Given the description of an element on the screen output the (x, y) to click on. 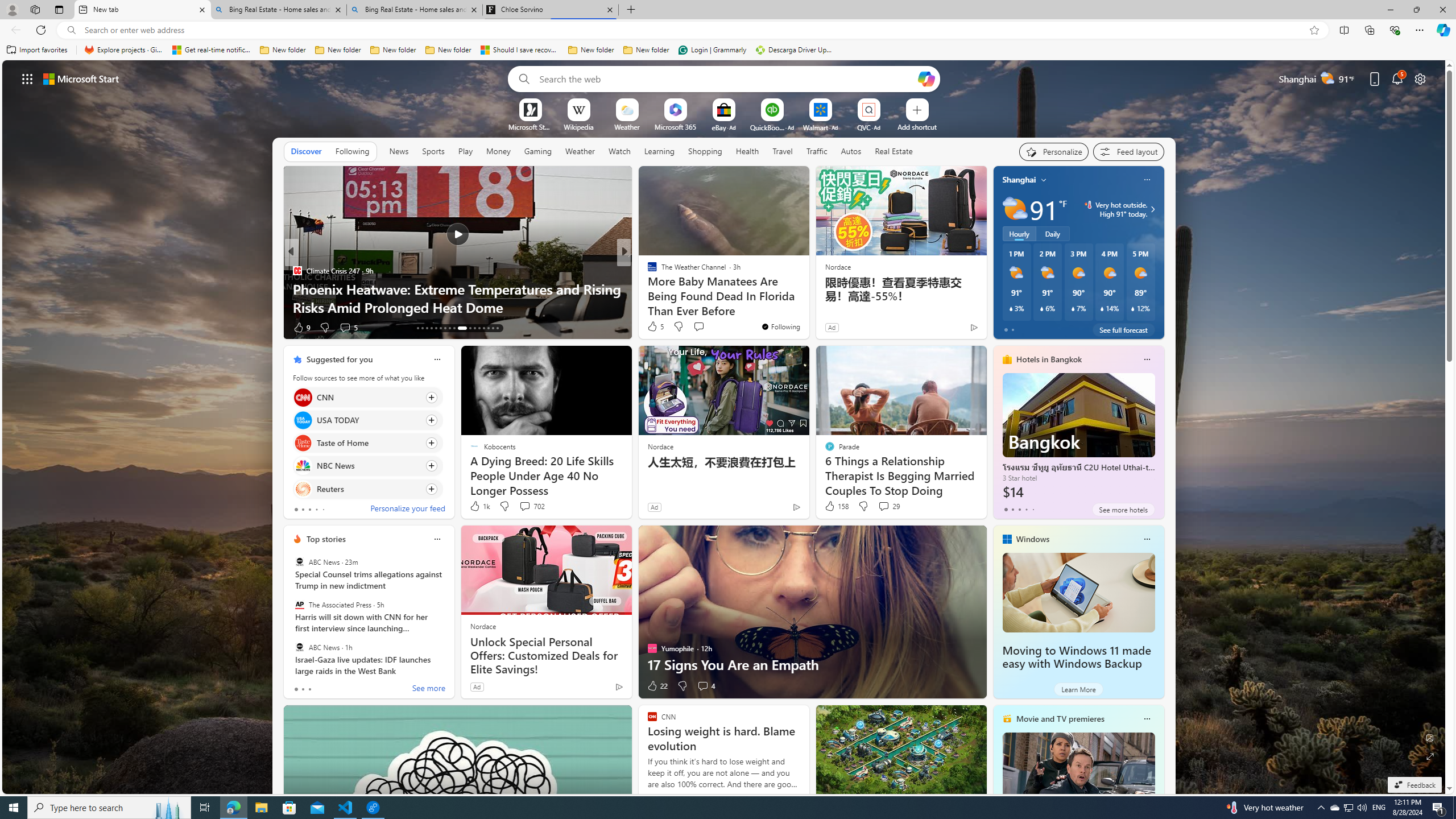
CNBC (647, 270)
Partly sunny (1014, 208)
View comments 702 Comment (523, 505)
Microsoft Start Gaming (529, 126)
View comments 58 Comment (6, 327)
Class: weather-current-precipitation-glyph (1133, 308)
ETNT Mind+Body (647, 270)
